Given the description of an element on the screen output the (x, y) to click on. 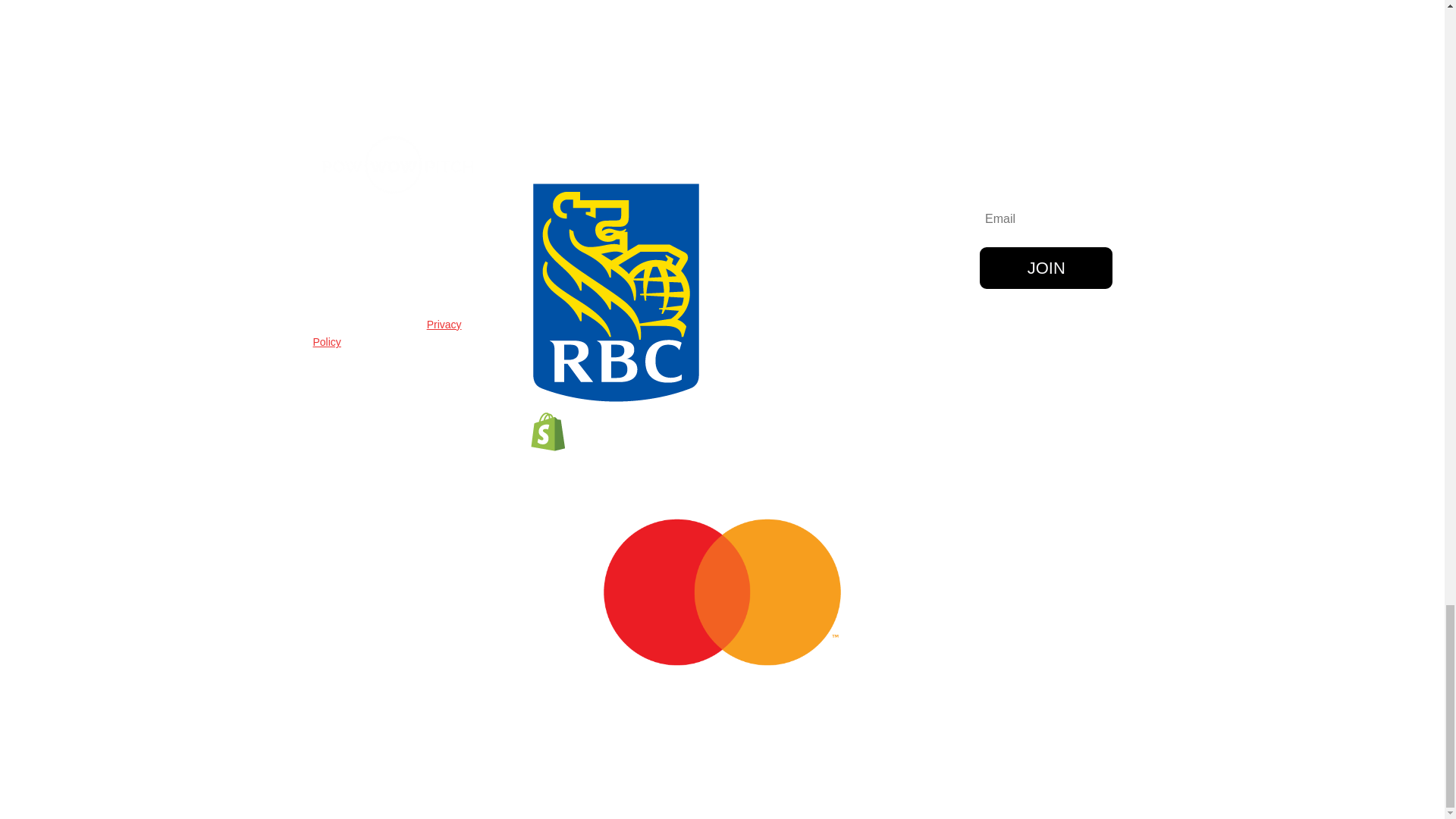
Follow on TikTok (972, 372)
Follow on Youtube (1093, 342)
Follow on Mail (1002, 372)
Follow on Instagram (1033, 342)
Follow on LinkedIn (1063, 342)
Follow on X (1002, 342)
Follow on Facebook (972, 342)
